Given the description of an element on the screen output the (x, y) to click on. 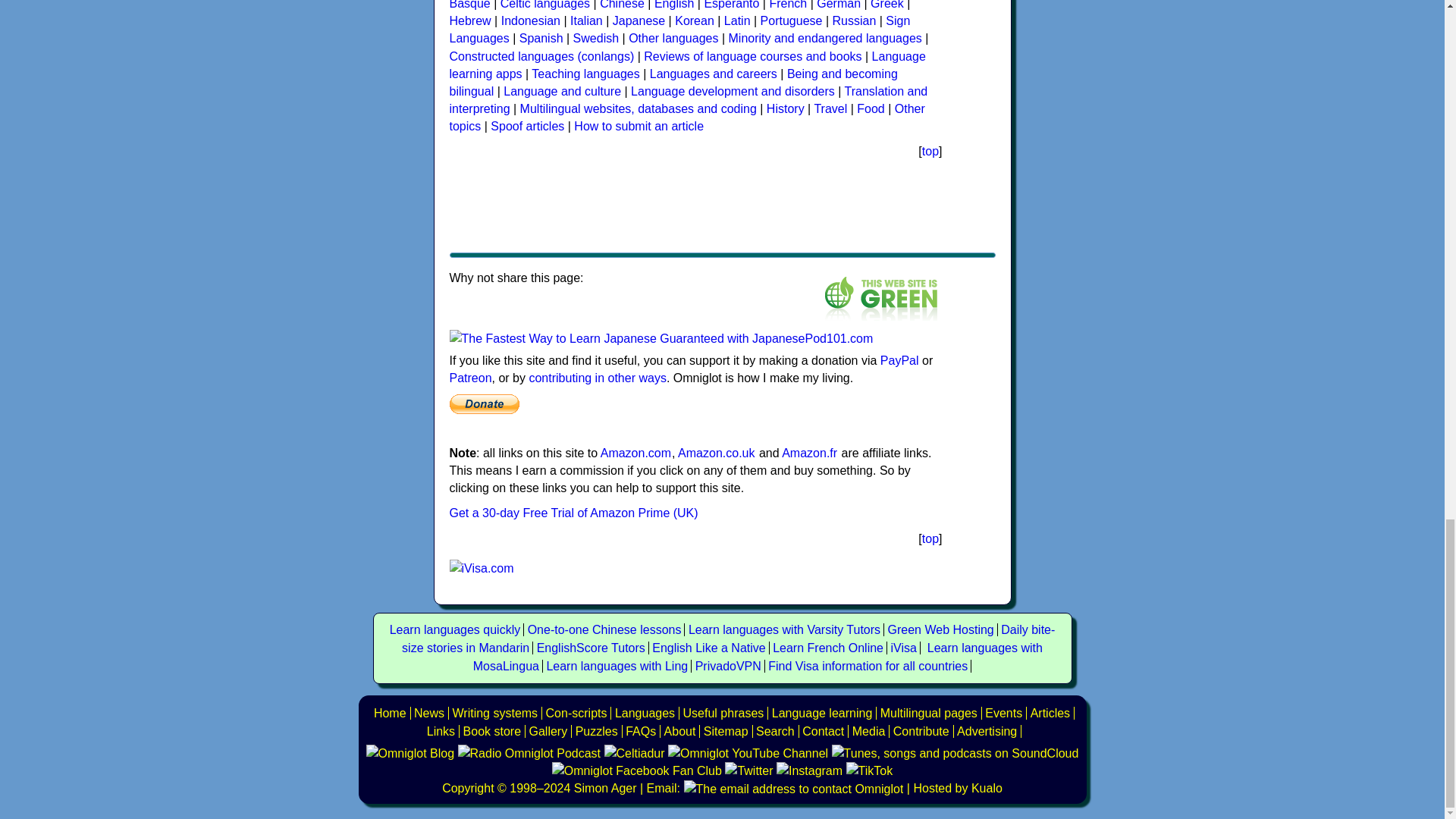
Frequently Asked Questions (641, 730)
Greek (887, 4)
An index of the languages featured on Omniglot (644, 712)
Celtic languages (544, 4)
Basque (468, 4)
Japanese (638, 20)
Hebrew (469, 20)
Writing systems invented by visitors to Omniglot (576, 712)
English (673, 4)
Latin (737, 20)
Chinese (622, 4)
A guide to the contents of Omniglot (679, 730)
